Given the description of an element on the screen output the (x, y) to click on. 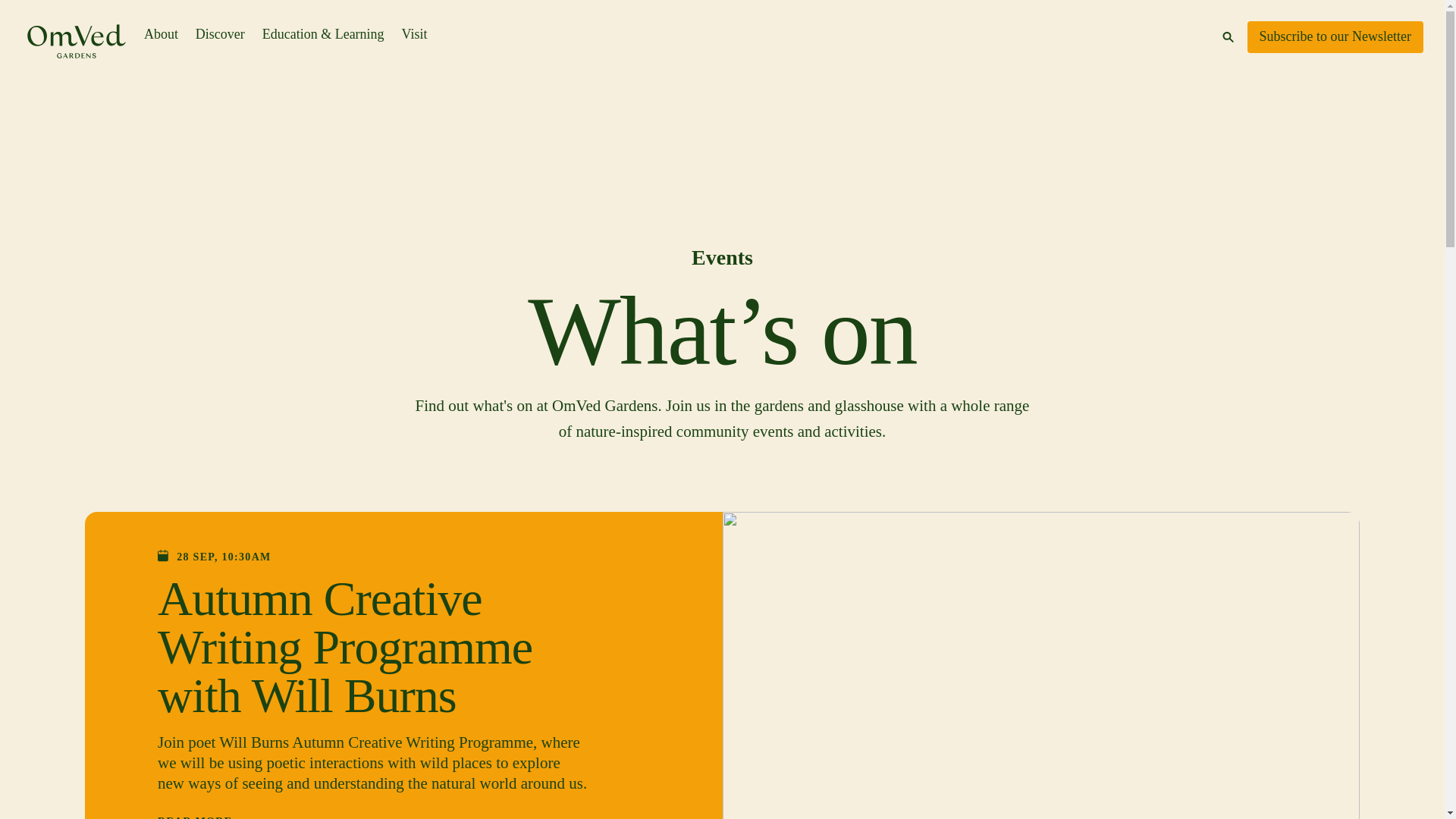
Subscribe to our Newsletter (1335, 37)
Discover (219, 34)
About (160, 34)
Back to front (76, 45)
Visit (413, 34)
